Given the description of an element on the screen output the (x, y) to click on. 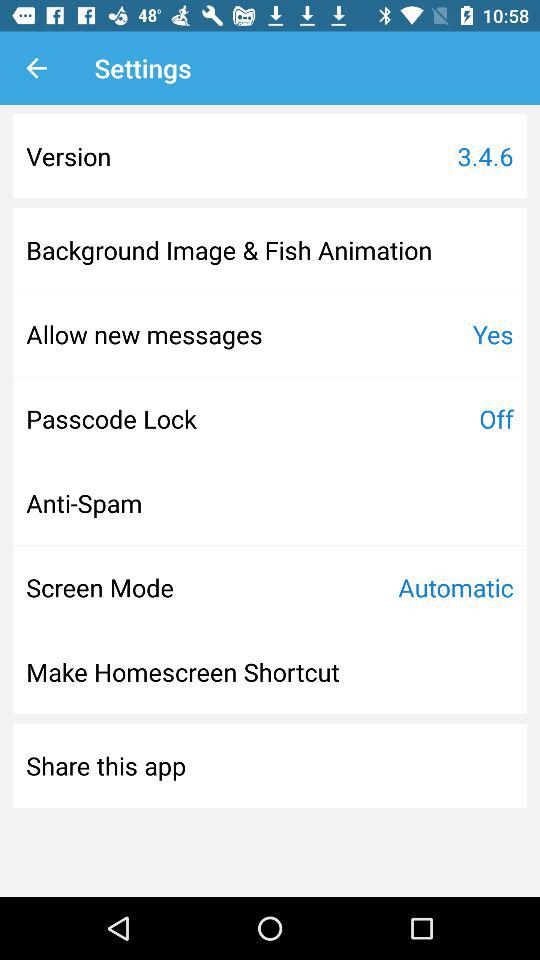
choose the share this app at the bottom left corner (106, 765)
